Given the description of an element on the screen output the (x, y) to click on. 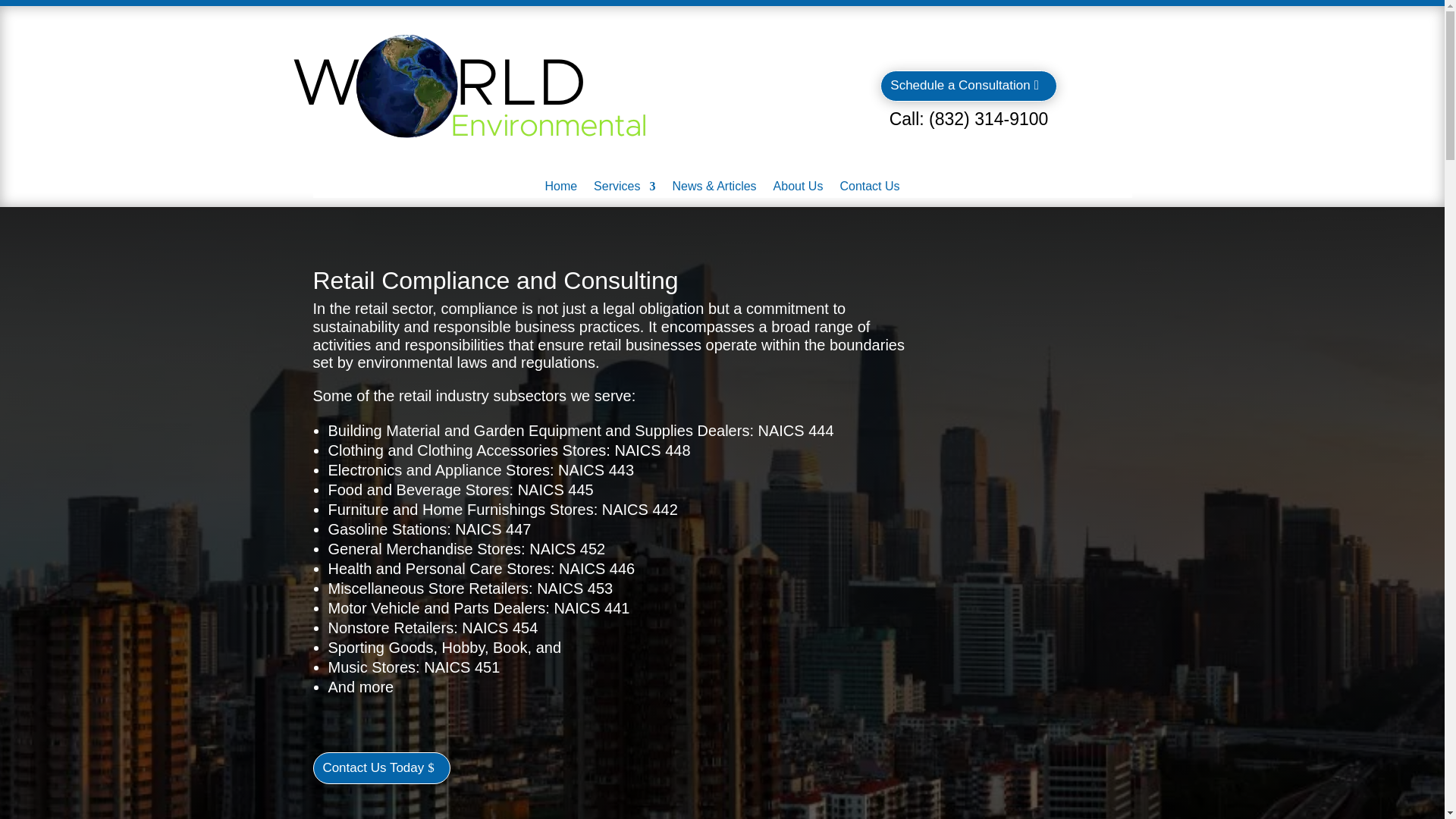
Services (624, 189)
About Us (798, 189)
Home (560, 189)
Contact Us (869, 189)
Schedule a Consultation (968, 85)
